Given the description of an element on the screen output the (x, y) to click on. 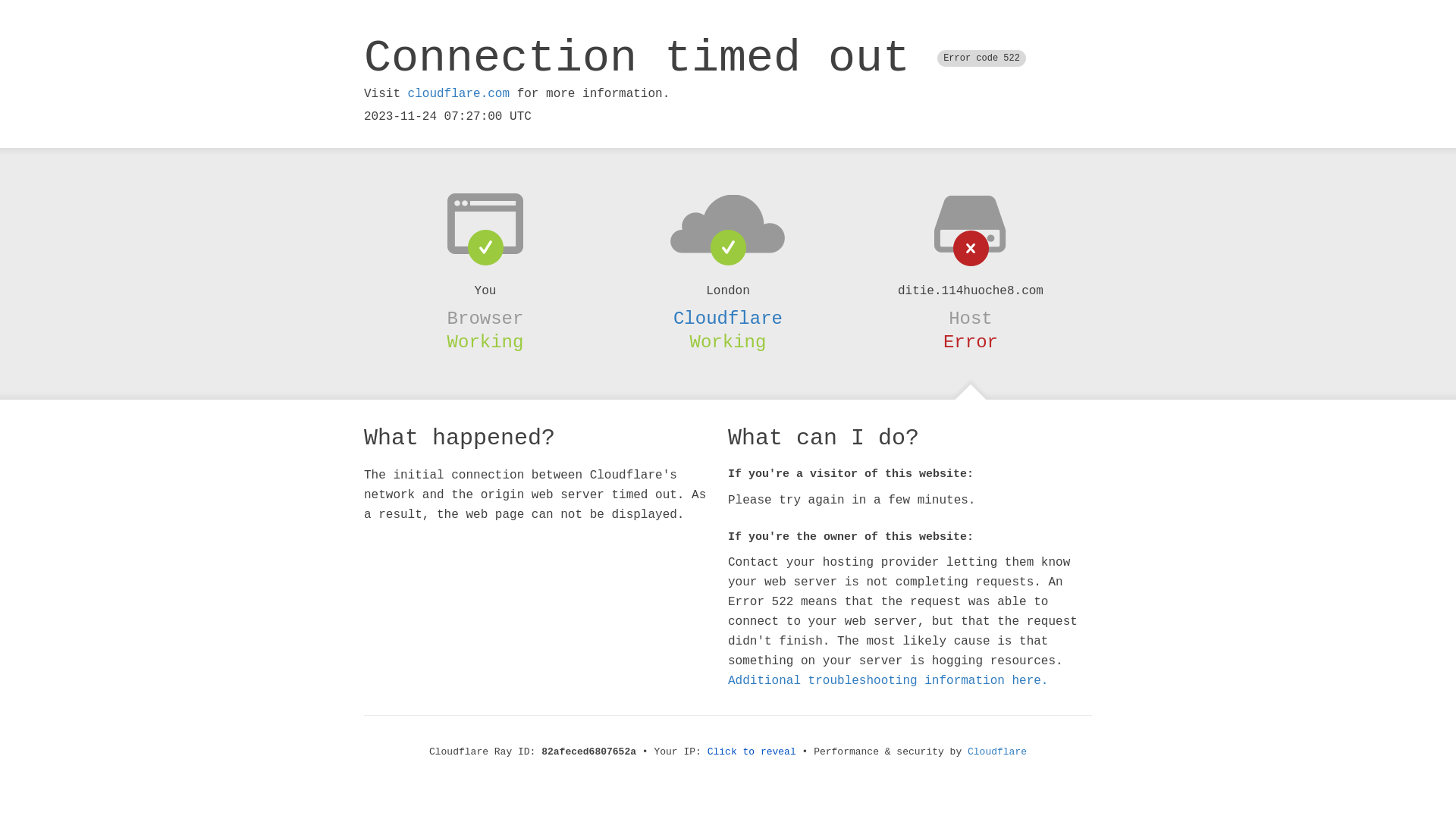
cloudflare.com Element type: text (458, 93)
Cloudflare Element type: text (996, 751)
Additional troubleshooting information here. Element type: text (888, 680)
Click to reveal Element type: text (751, 751)
Cloudflare Element type: text (727, 318)
